Given the description of an element on the screen output the (x, y) to click on. 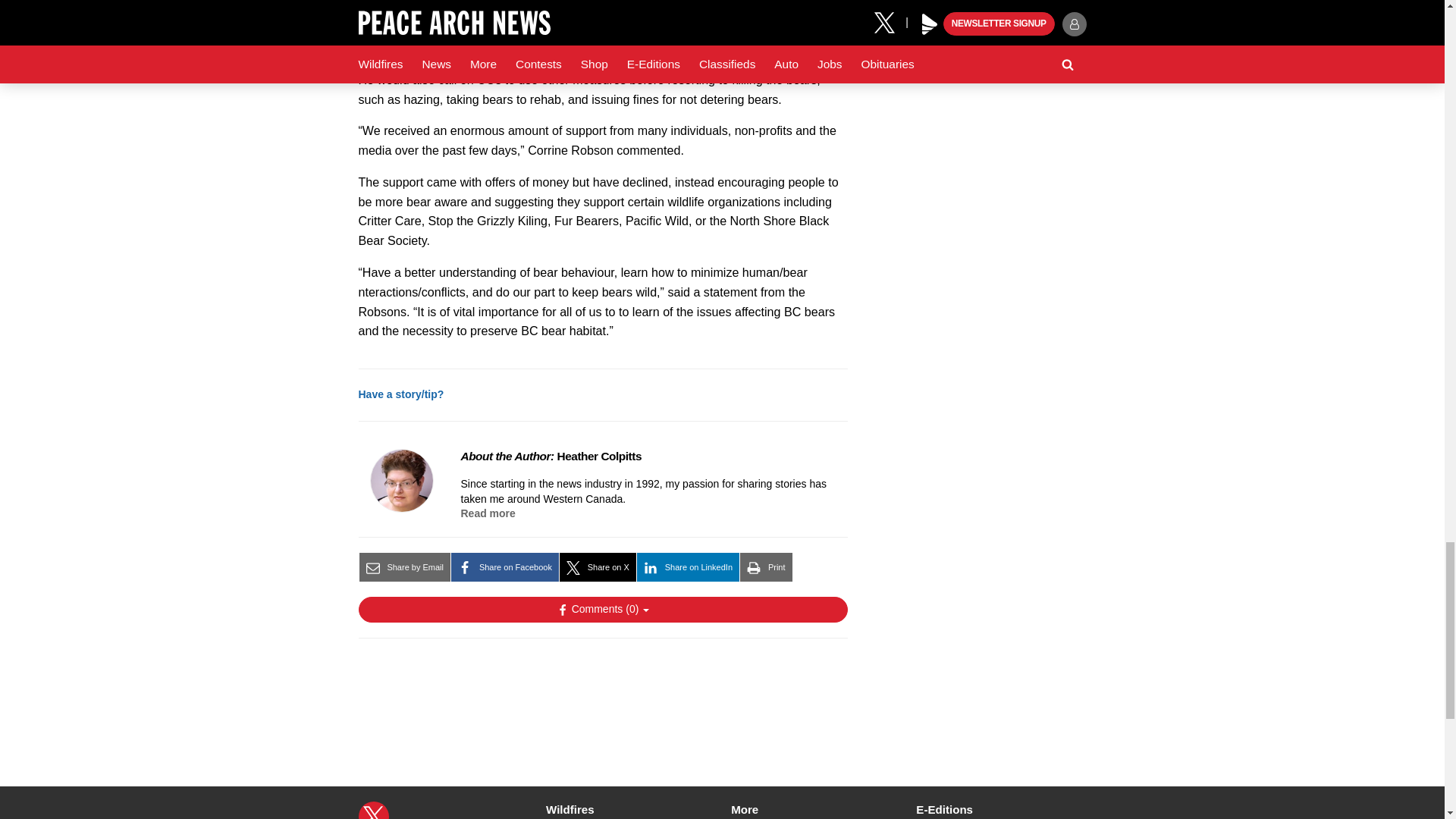
X (373, 810)
Show Comments (602, 609)
